Given the description of an element on the screen output the (x, y) to click on. 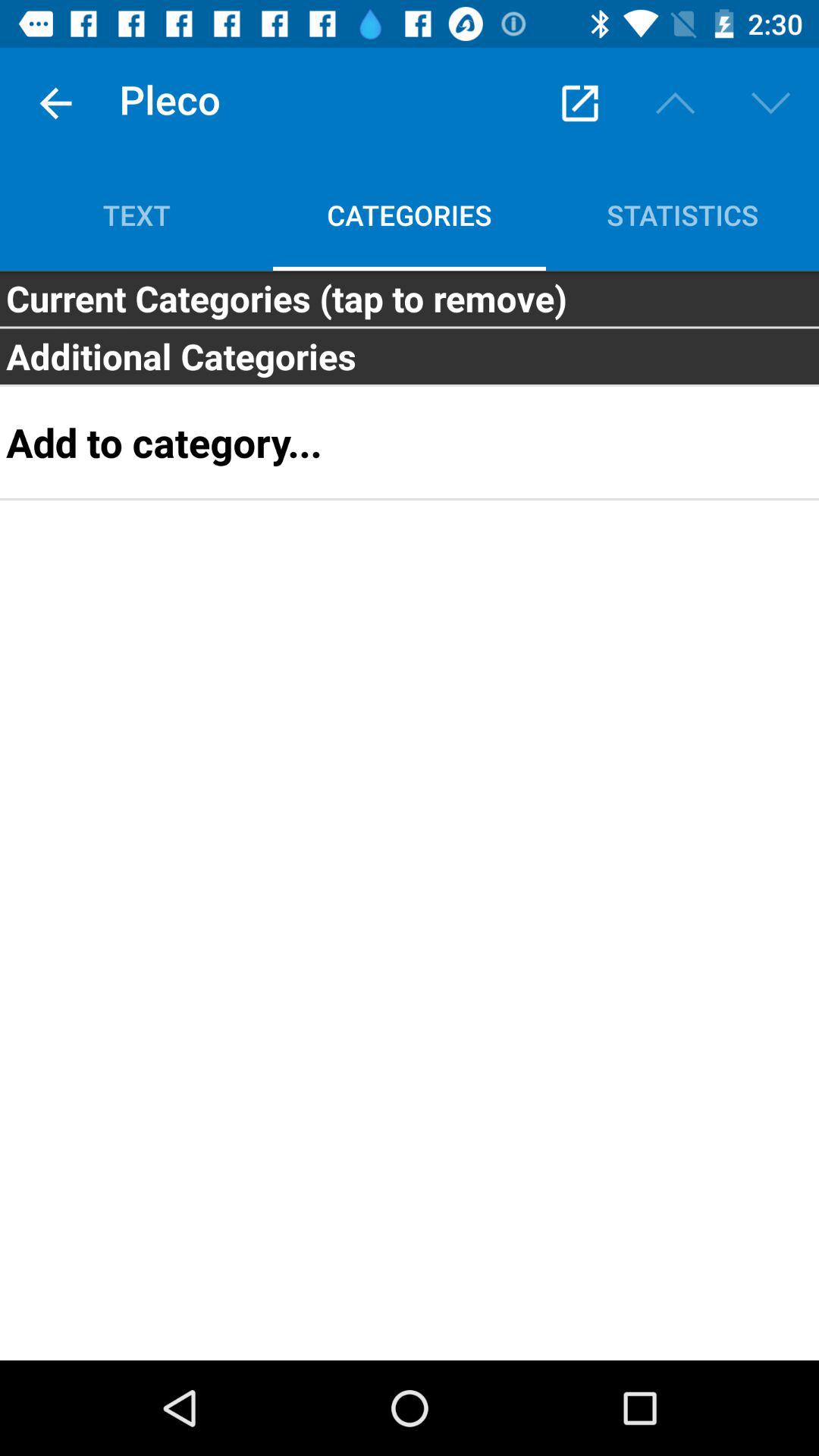
scroll to add to category... item (409, 442)
